Given the description of an element on the screen output the (x, y) to click on. 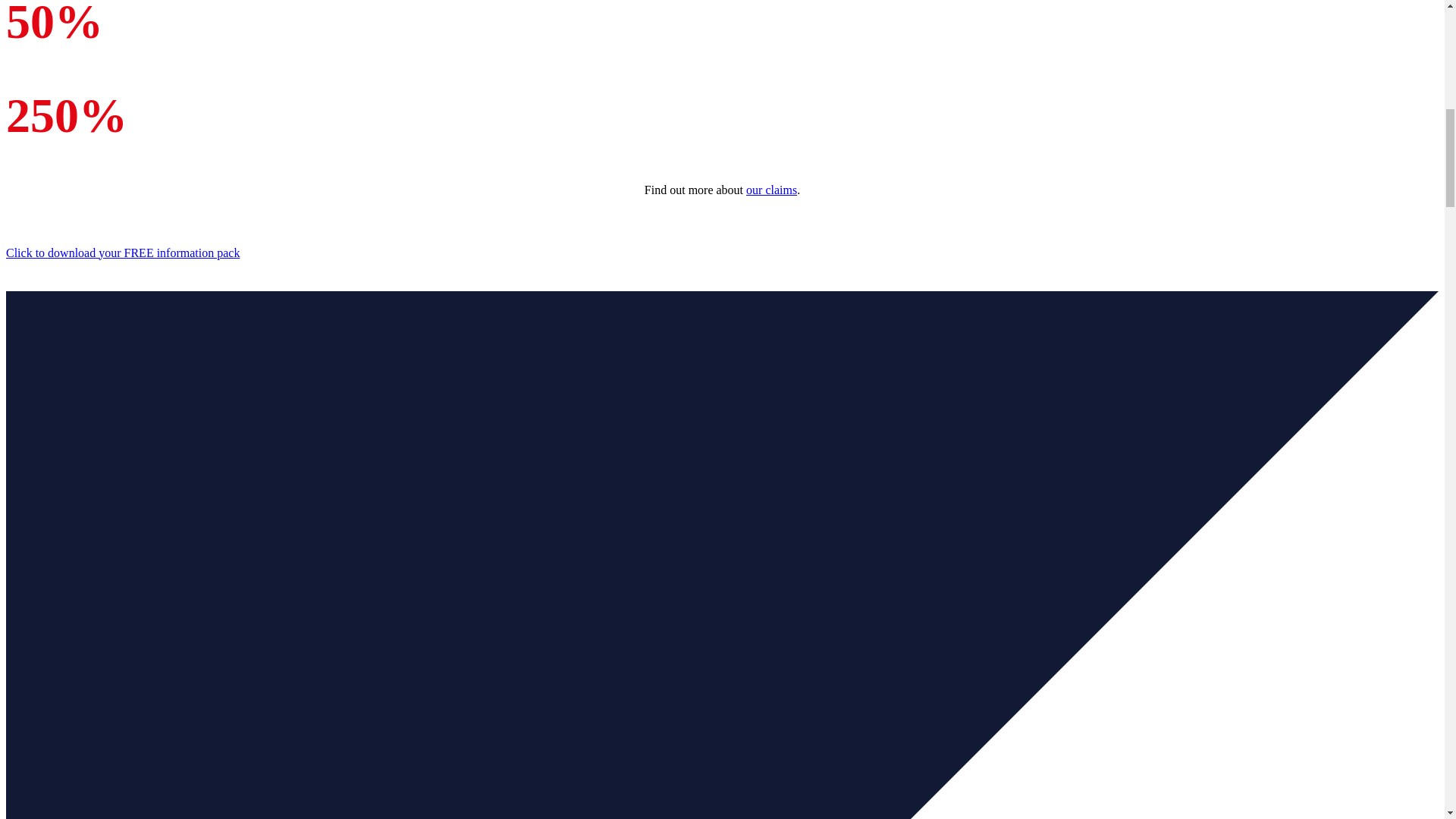
Click to download your FREE information pack (122, 252)
our claims (770, 189)
